Given the description of an element on the screen output the (x, y) to click on. 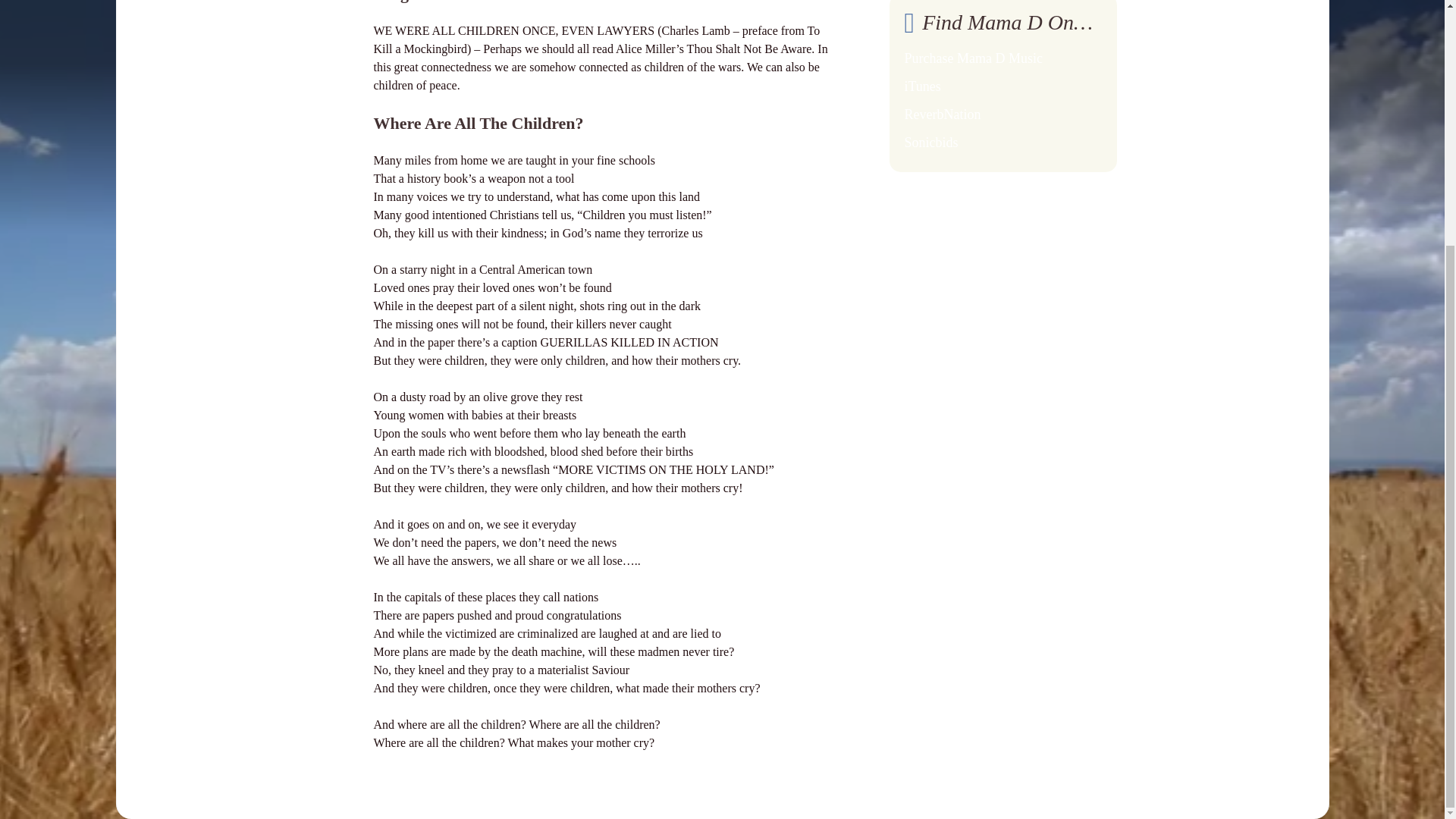
iTunes (922, 86)
Sonicbids (931, 142)
Purchase Mama D Music (973, 58)
ReverbNation (941, 114)
